Given the description of an element on the screen output the (x, y) to click on. 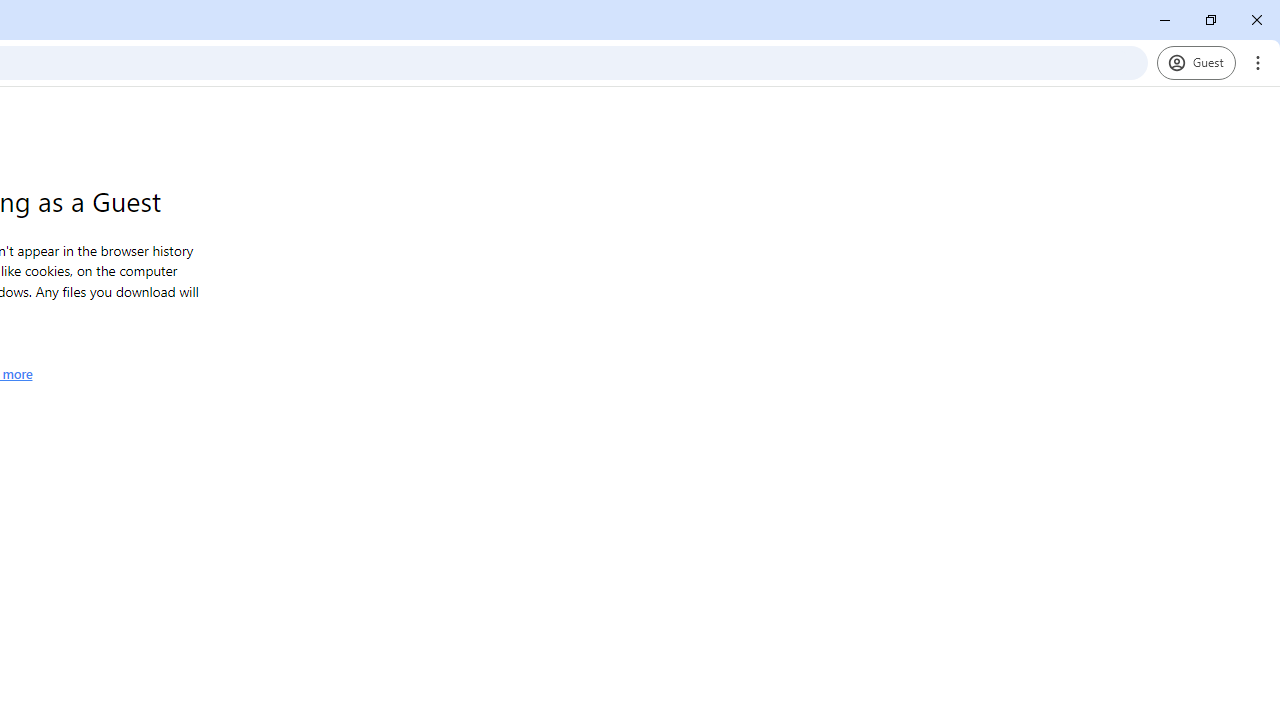
Guest (1196, 62)
